Given the description of an element on the screen output the (x, y) to click on. 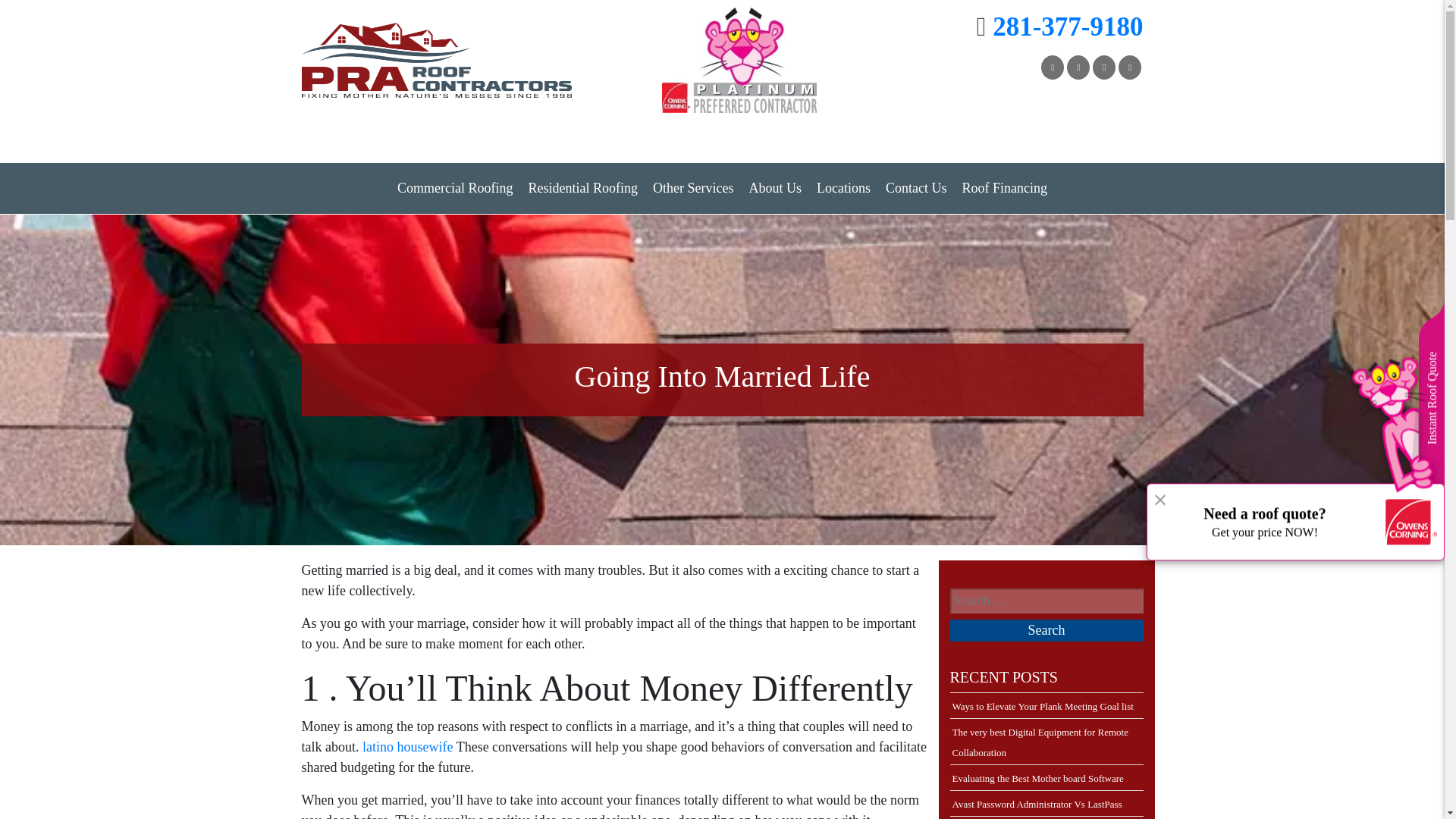
281-377-9180 (1067, 26)
Search (1045, 630)
About Us (775, 188)
Roof Financing (1003, 188)
latino housewife (407, 746)
Commercial Roofing (454, 188)
Residential Roofing (583, 188)
Search (1045, 630)
Other Services (693, 188)
Contact Us (916, 188)
Locations (843, 188)
